Given the description of an element on the screen output the (x, y) to click on. 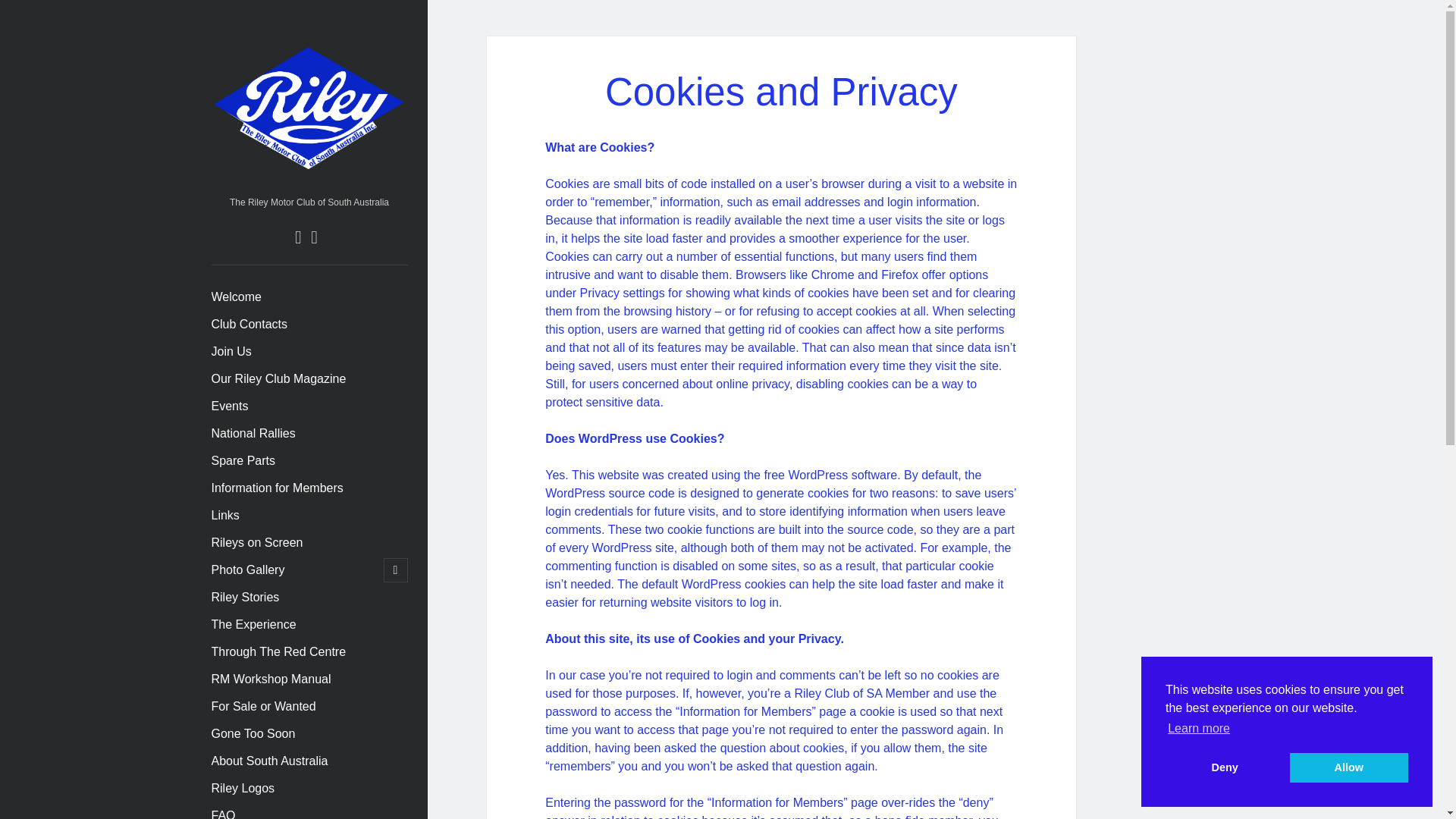
Club Contacts (248, 324)
RM Workshop Manual (270, 679)
Riley Logos (243, 788)
National Rallies (253, 434)
Gone Too Soon (253, 733)
Information for Members (276, 488)
Welcome (235, 297)
Through The Red Centre (278, 651)
open child menu (395, 569)
Spare Parts (243, 461)
